Given the description of an element on the screen output the (x, y) to click on. 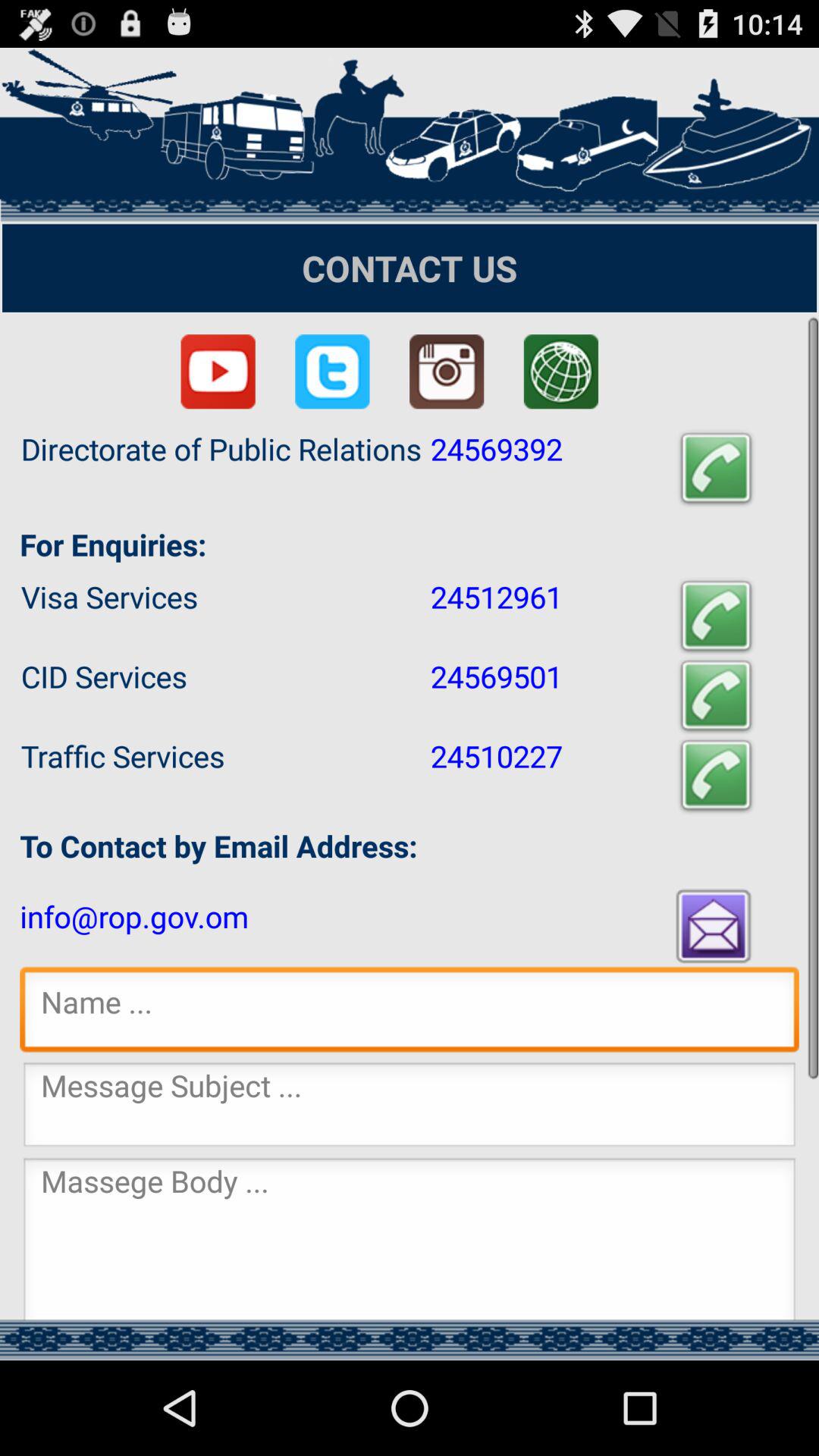
click calling to cid services (716, 695)
